Given the description of an element on the screen output the (x, y) to click on. 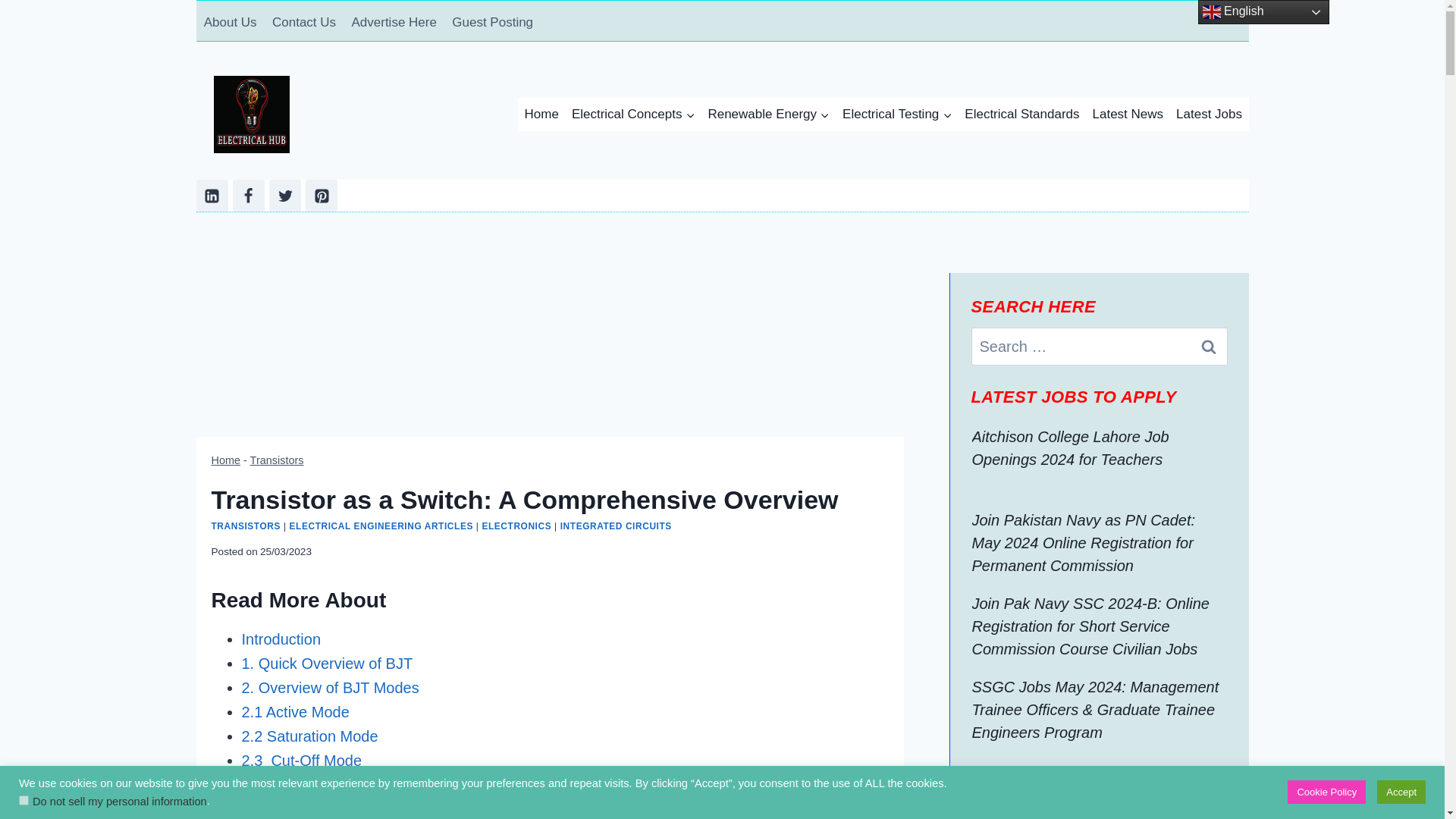
Advertise Here (393, 22)
Electrical Concepts (632, 114)
Renewable Energy (768, 114)
Home (541, 114)
Search (1208, 346)
Electrical Standards (1022, 114)
Electrical Testing (896, 114)
on (23, 800)
Advertisement (549, 354)
Guest Posting (492, 22)
About Us (229, 22)
Contact Us (303, 22)
Search (1208, 346)
